Given the description of an element on the screen output the (x, y) to click on. 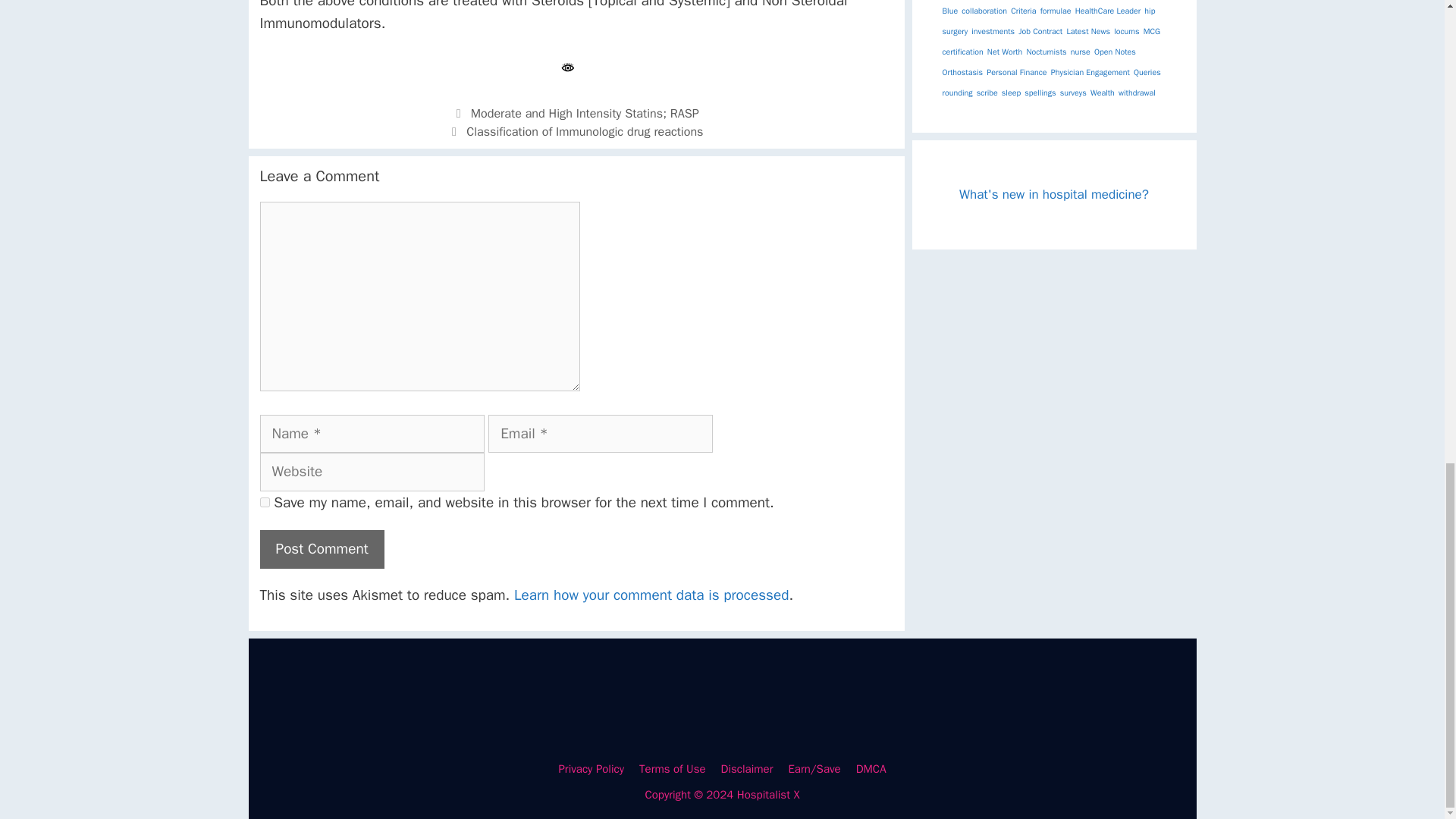
yes (264, 501)
Moderate and High Intensity Statins; RASP (584, 113)
Post Comment (321, 548)
Scroll back to top (1406, 464)
Classification of Immunologic drug reactions (584, 131)
